Given the description of an element on the screen output the (x, y) to click on. 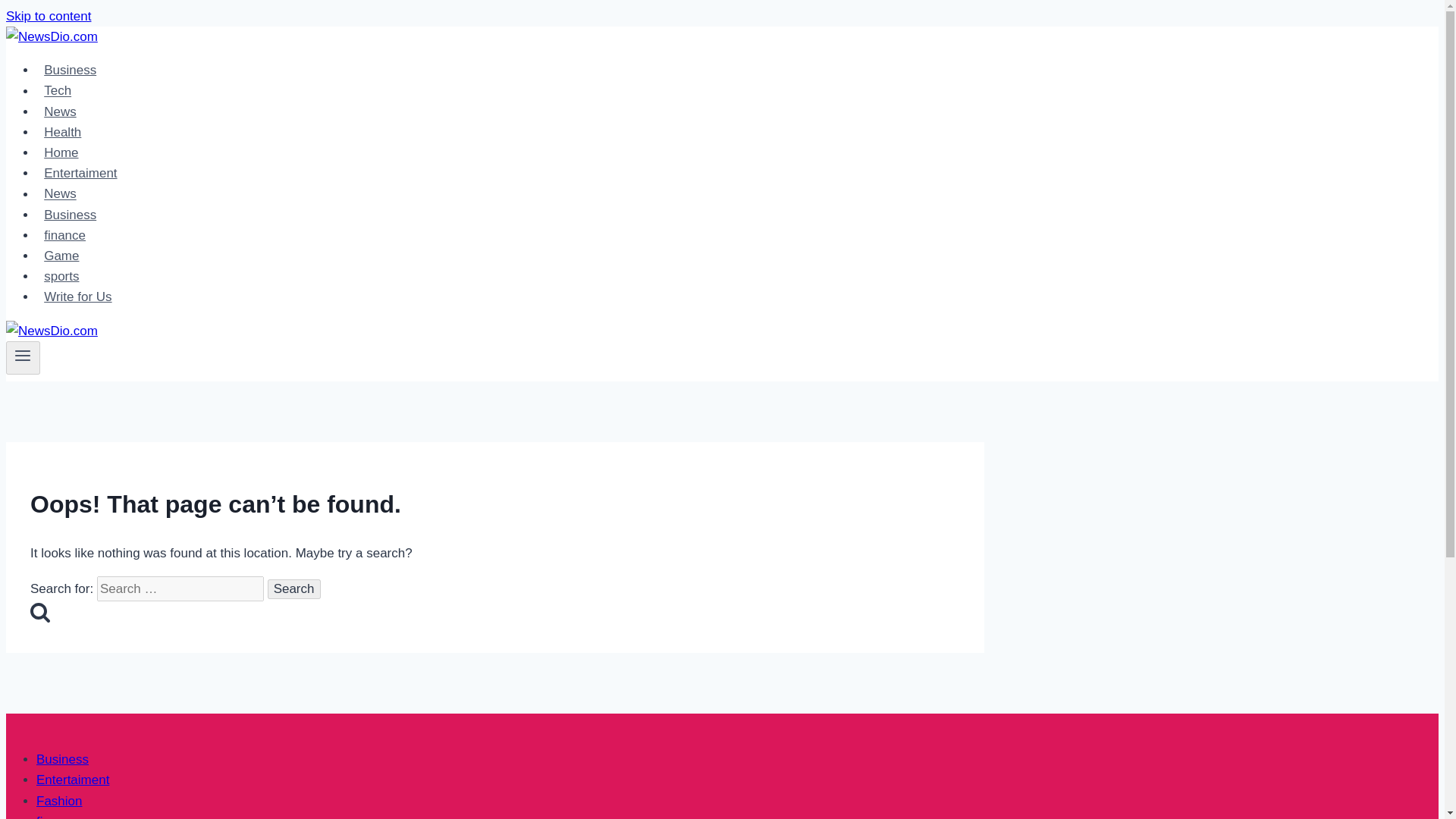
sports (61, 276)
Search (293, 588)
Entertaiment (80, 173)
Search (293, 588)
finance (57, 816)
Toggle Menu (22, 357)
News (60, 193)
Entertaiment (72, 780)
Game (61, 255)
Search (293, 588)
